Given the description of an element on the screen output the (x, y) to click on. 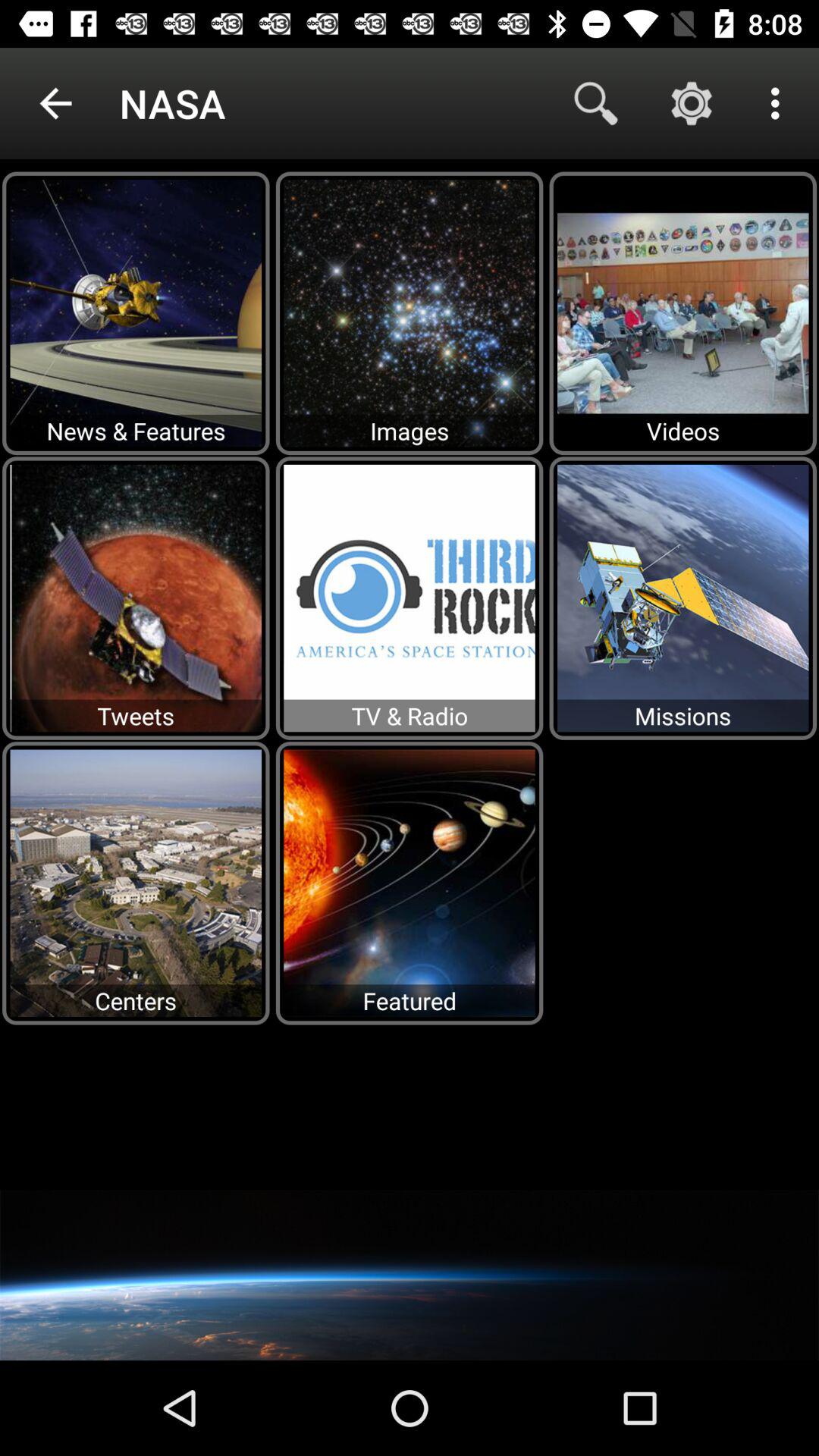
click app to the left of the nasa item (55, 103)
